Given the description of an element on the screen output the (x, y) to click on. 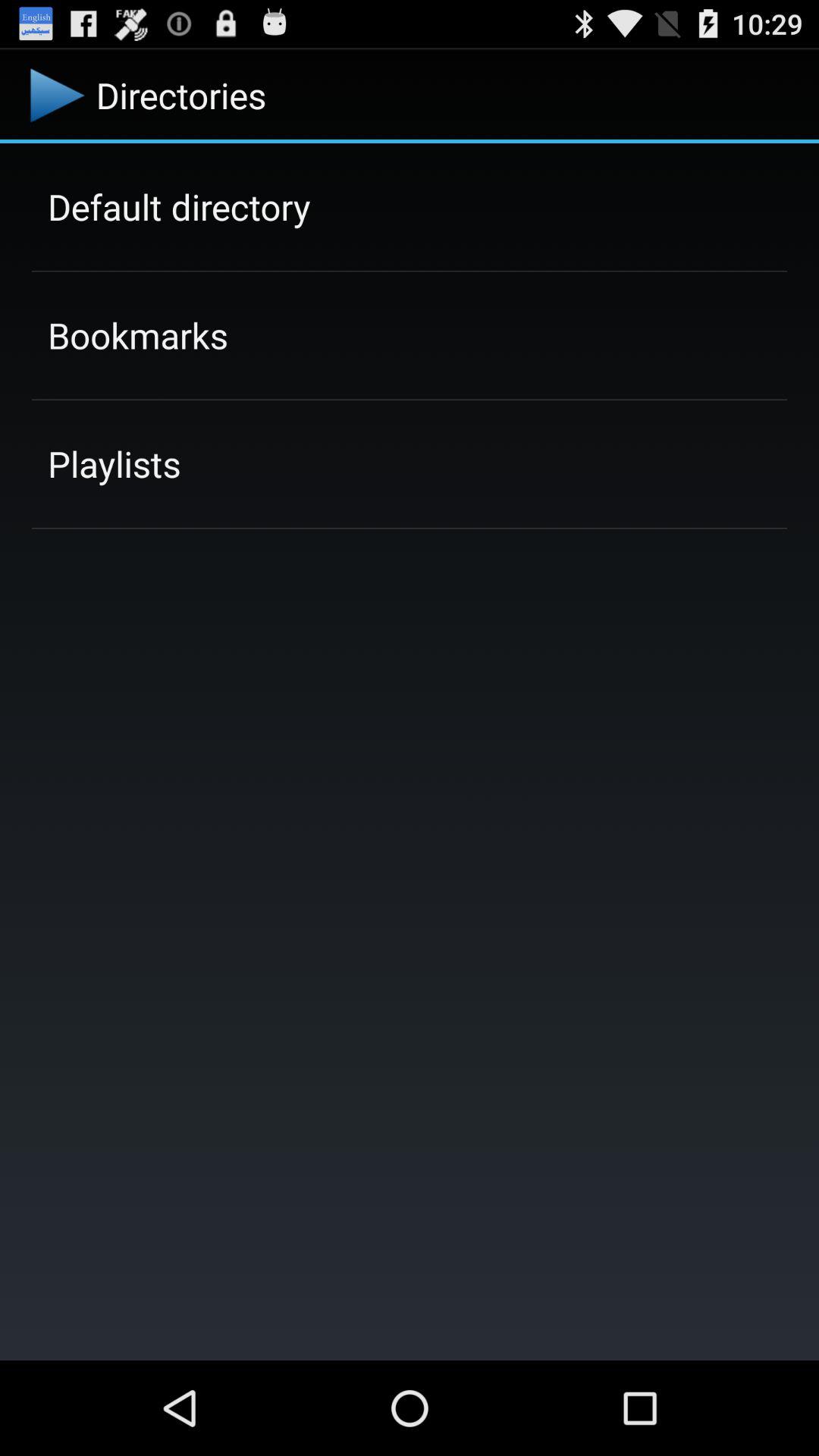
choose the app above the bookmarks item (178, 206)
